Given the description of an element on the screen output the (x, y) to click on. 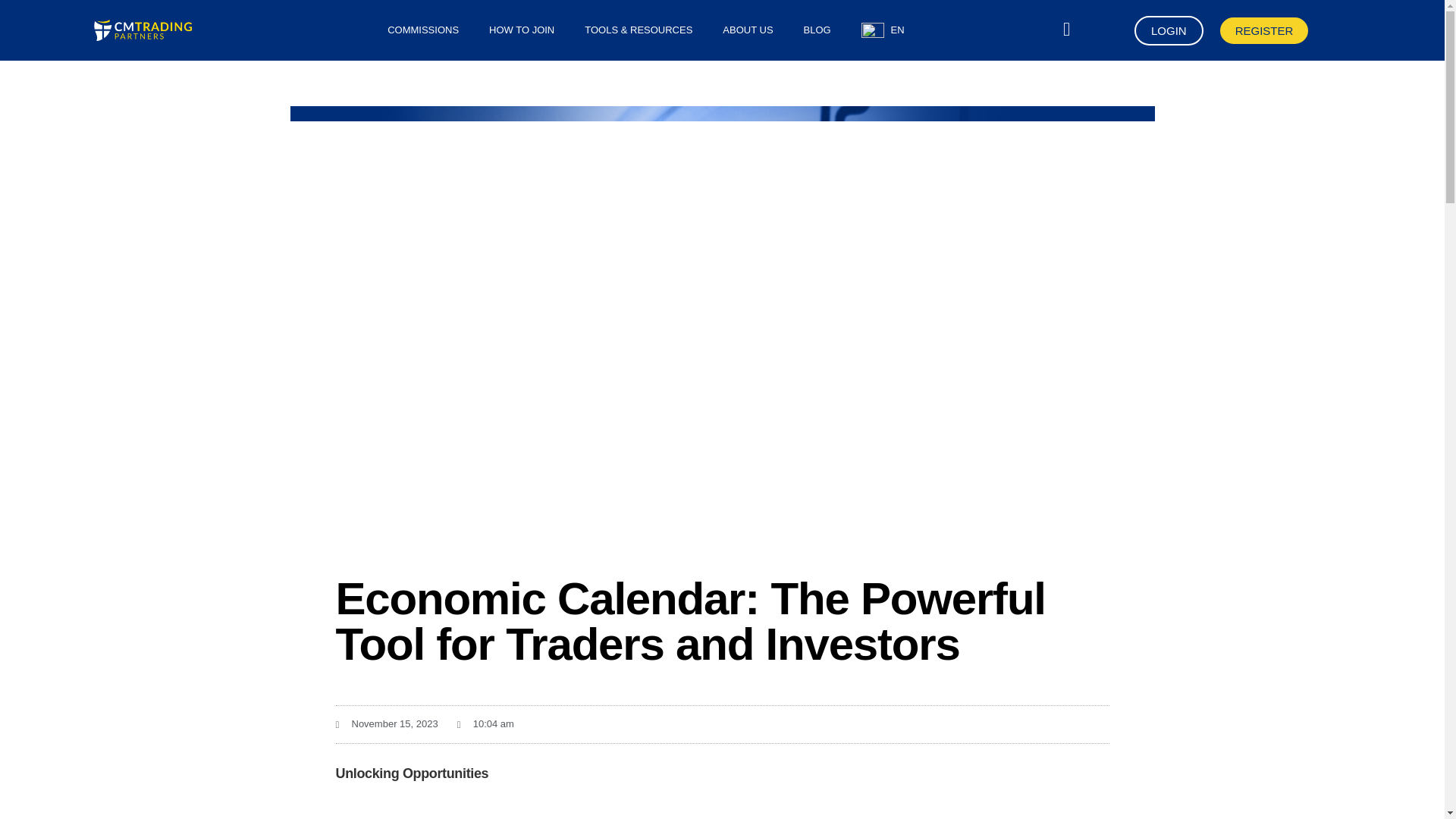
EN (882, 29)
